Given the description of an element on the screen output the (x, y) to click on. 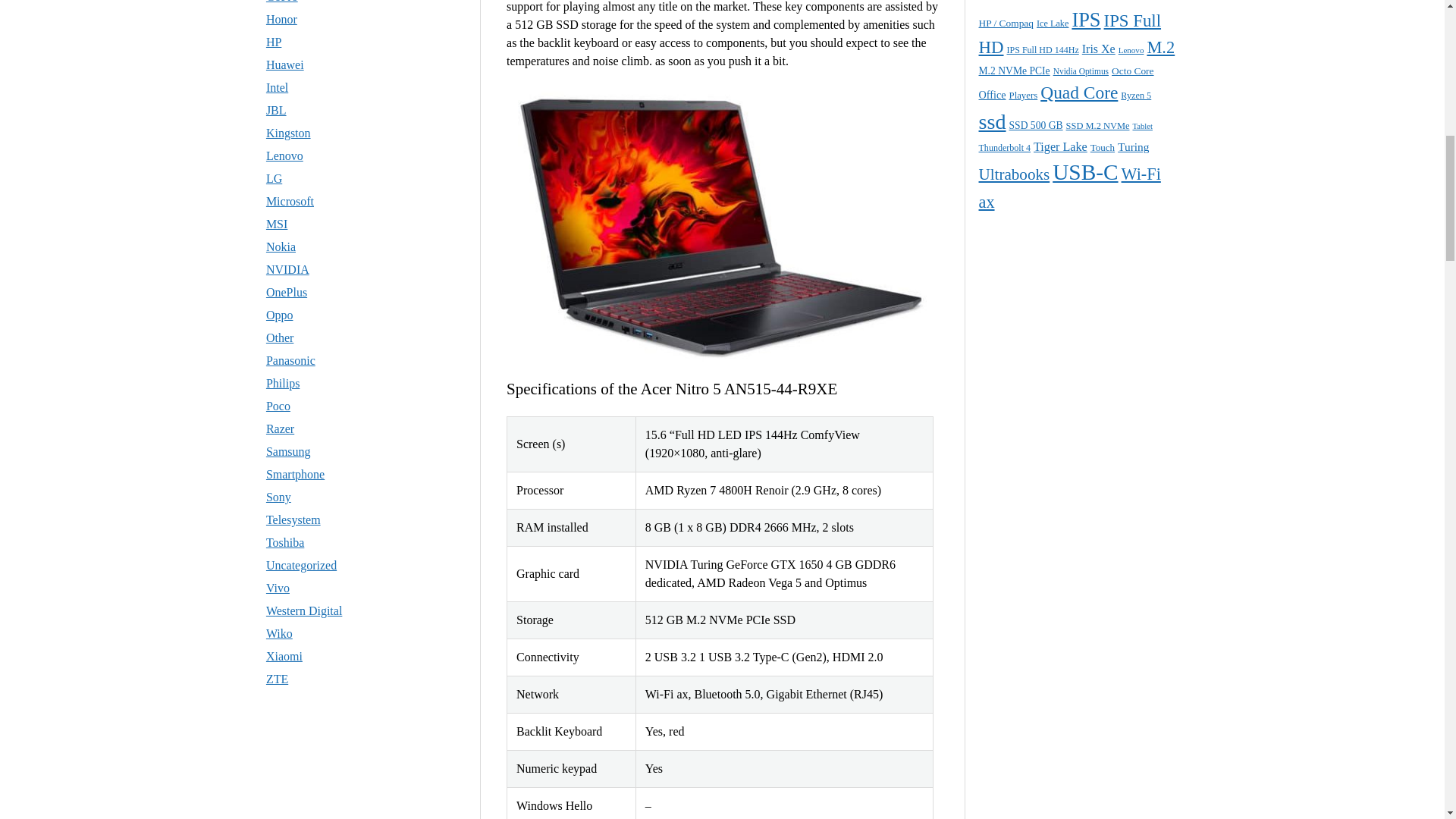
GoPro (282, 1)
Microsoft (290, 201)
Intel (277, 87)
Huawei (285, 64)
Acer Nitro 5 AN515-44-R9XE Specs and Details (721, 224)
JBL (276, 110)
LG (274, 178)
Honor (281, 19)
Lenovo (284, 155)
HP (273, 42)
